Given the description of an element on the screen output the (x, y) to click on. 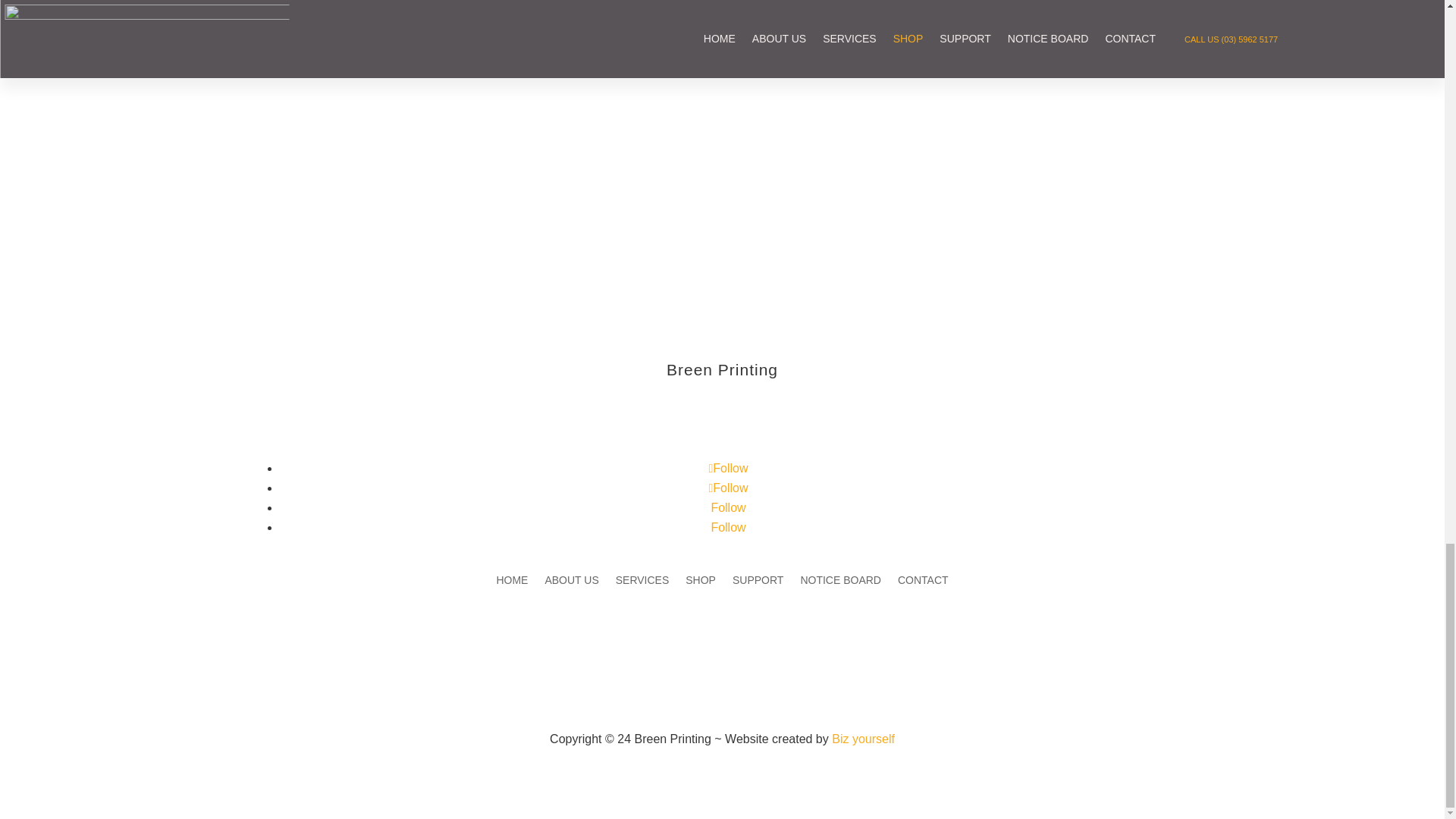
SHOP (700, 582)
Follow on Facebook (727, 468)
SUPPORT (757, 582)
SERVICES (642, 582)
Follow on LinkedIn (727, 507)
NOTICE BOARD (839, 582)
HOME (511, 582)
Follow (727, 487)
Biz yourself (863, 738)
